Given the description of an element on the screen output the (x, y) to click on. 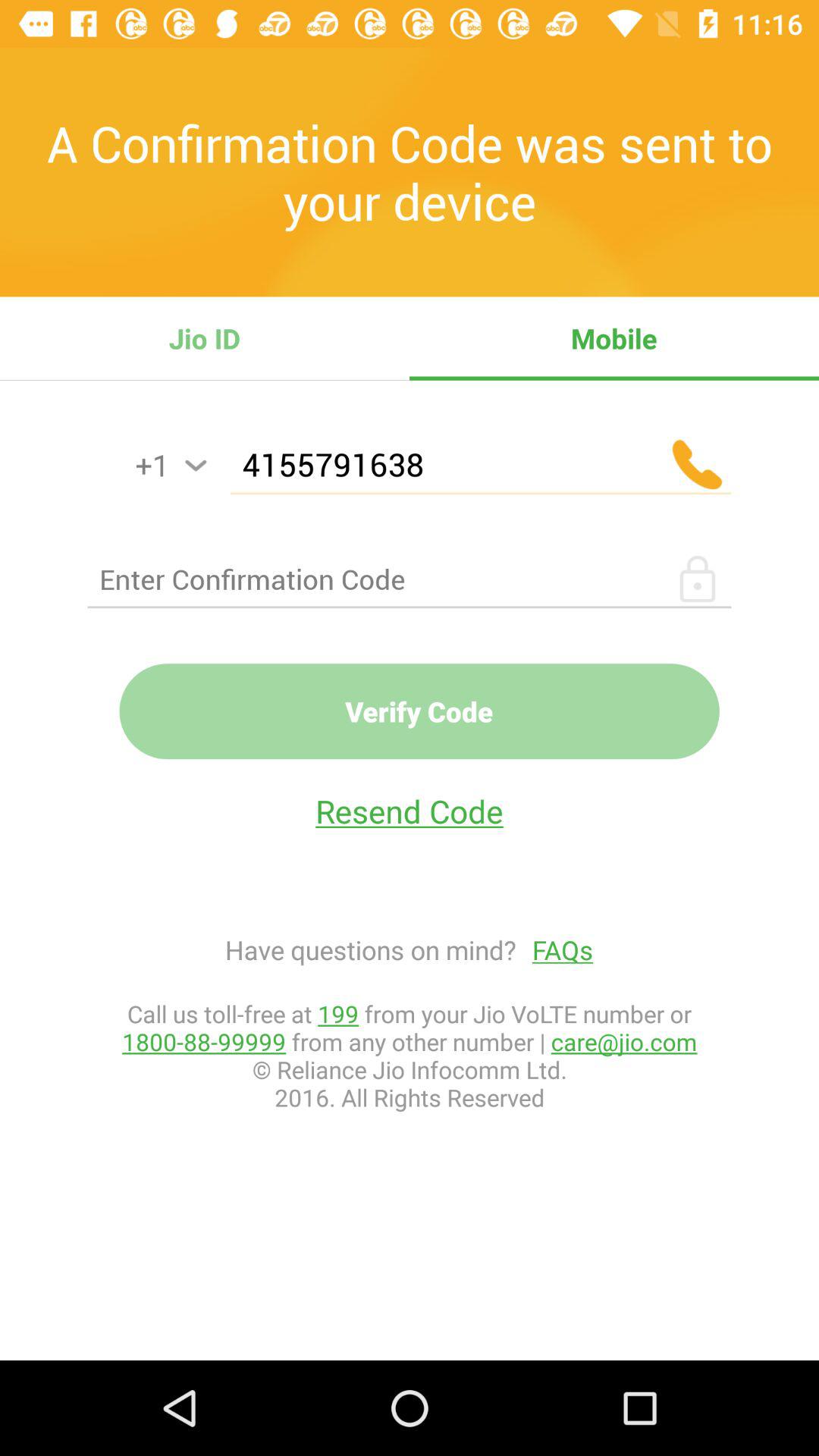
choose the icon below the verify code (409, 810)
